Given the description of an element on the screen output the (x, y) to click on. 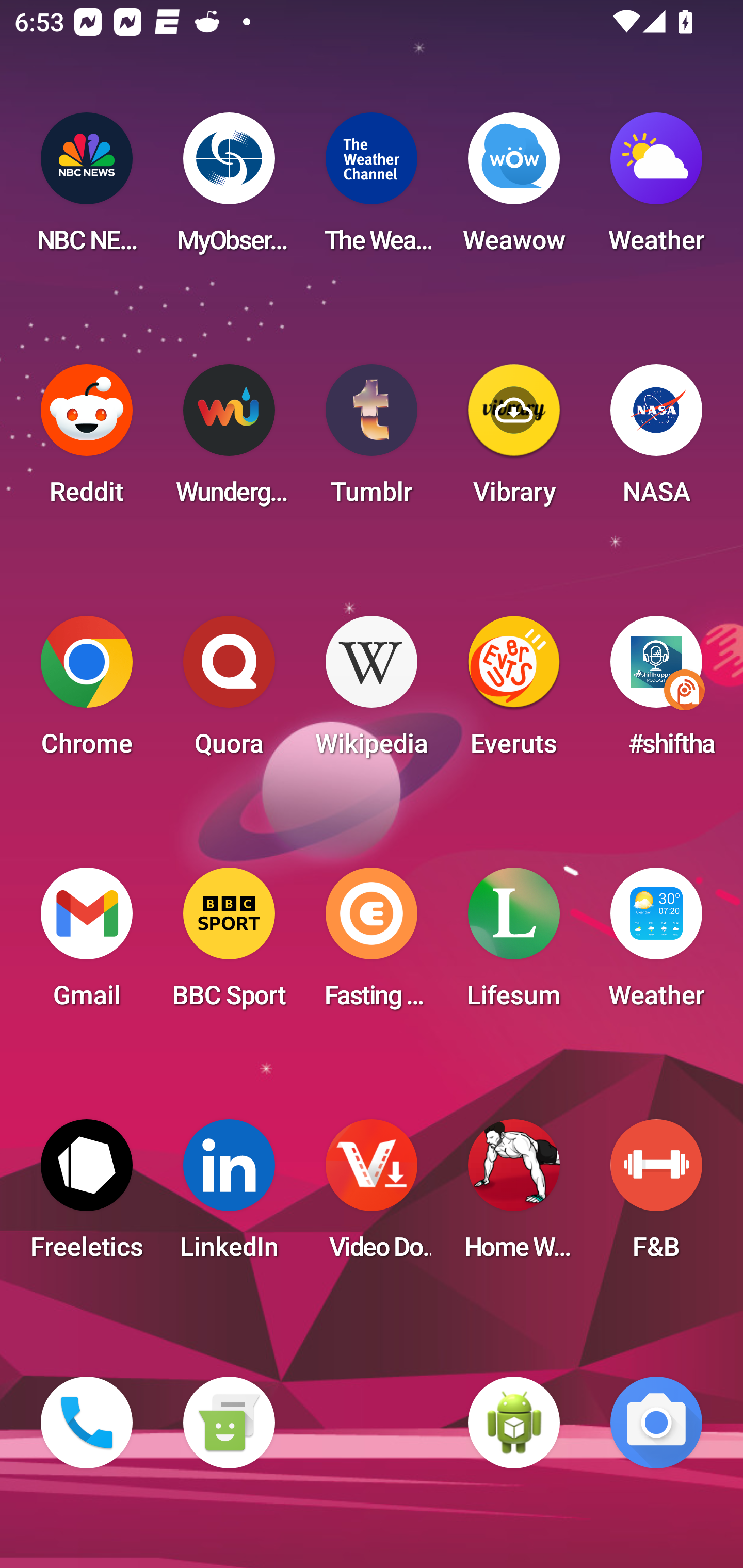
NBC NEWS (86, 188)
MyObservatory (228, 188)
The Weather Channel (371, 188)
Weawow (513, 188)
Weather (656, 188)
Reddit (86, 440)
Wunderground (228, 440)
Tumblr (371, 440)
Vibrary (513, 440)
NASA (656, 440)
Chrome (86, 692)
Quora (228, 692)
Wikipedia (371, 692)
Everuts (513, 692)
#shifthappens in the Digital Workplace Podcast (656, 692)
Gmail (86, 943)
BBC Sport (228, 943)
Fasting Coach (371, 943)
Lifesum (513, 943)
Weather (656, 943)
Freeletics (86, 1195)
LinkedIn (228, 1195)
Video Downloader & Ace Player (371, 1195)
Home Workout (513, 1195)
F&B (656, 1195)
Phone (86, 1422)
Messaging (228, 1422)
WebView Browser Tester (513, 1422)
Camera (656, 1422)
